Given the description of an element on the screen output the (x, y) to click on. 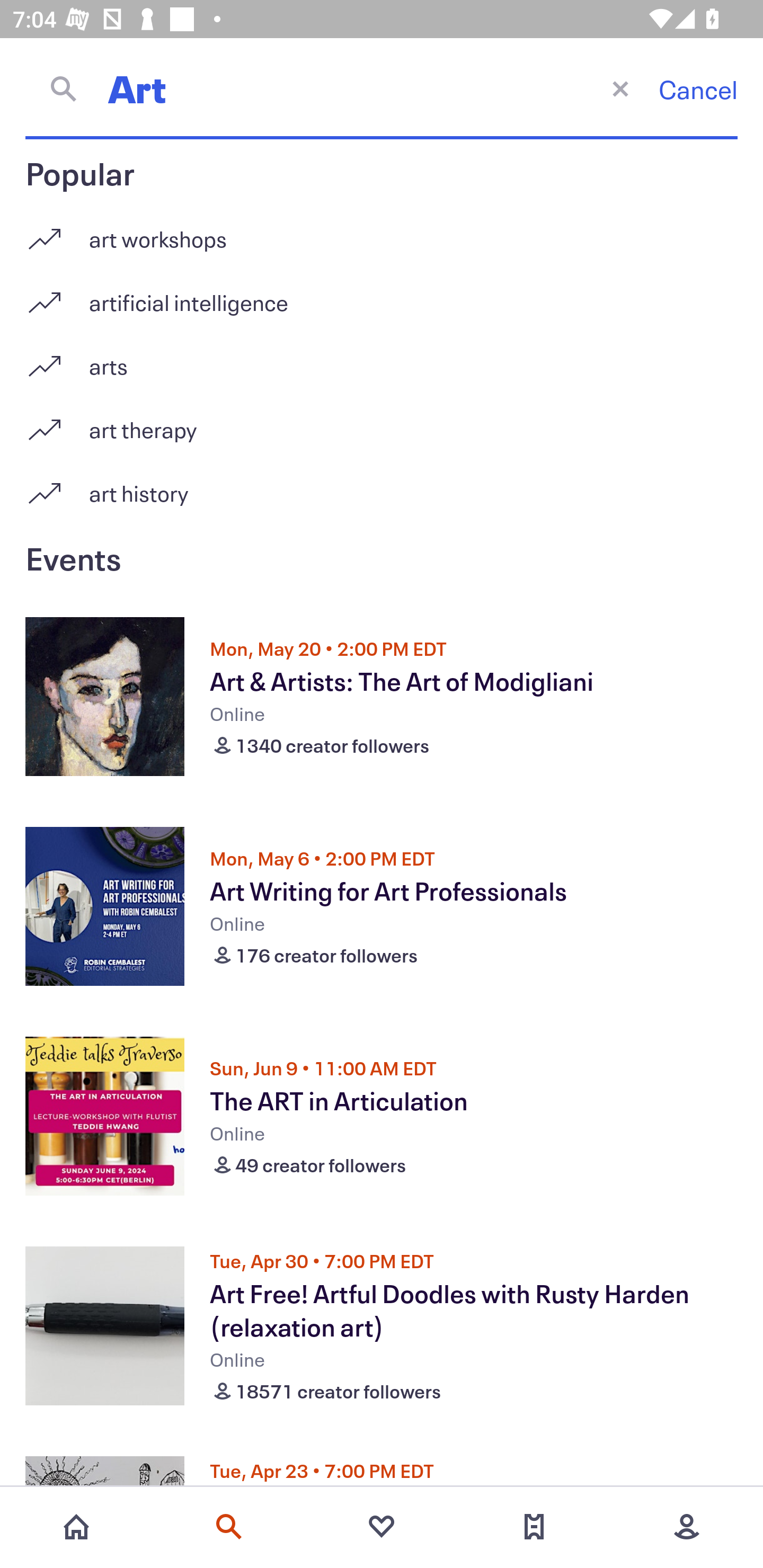
Art Close current screen Cancel (381, 88)
Close current screen (620, 88)
Cancel (697, 89)
art workshops (381, 231)
artificial intelligence (381, 295)
arts (381, 358)
art therapy (381, 422)
art history (381, 492)
Home (76, 1526)
Search events (228, 1526)
Favorites (381, 1526)
Tickets (533, 1526)
More (686, 1526)
